Given the description of an element on the screen output the (x, y) to click on. 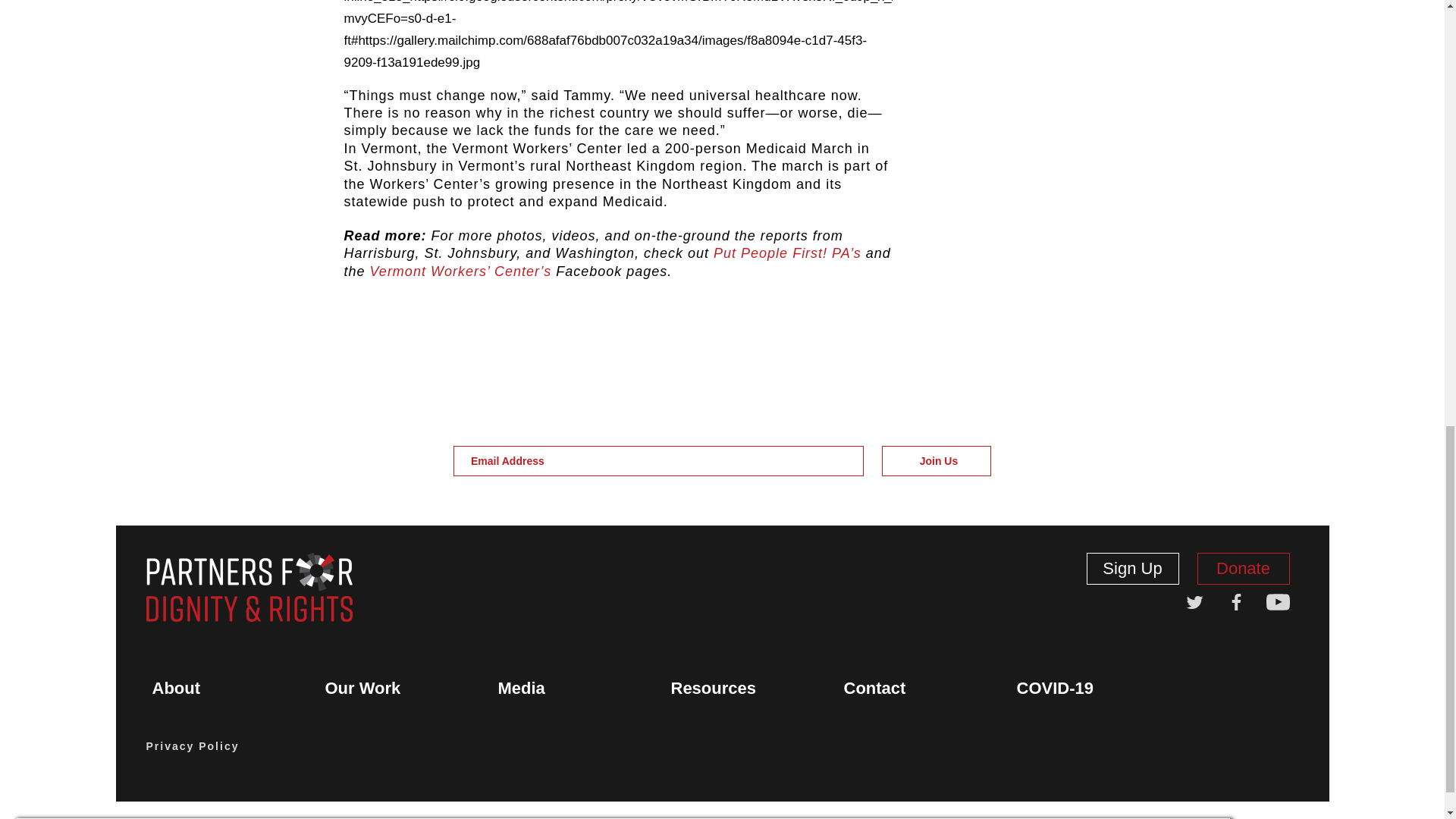
Join Us (936, 460)
About (175, 688)
Join Us (936, 460)
